Given the description of an element on the screen output the (x, y) to click on. 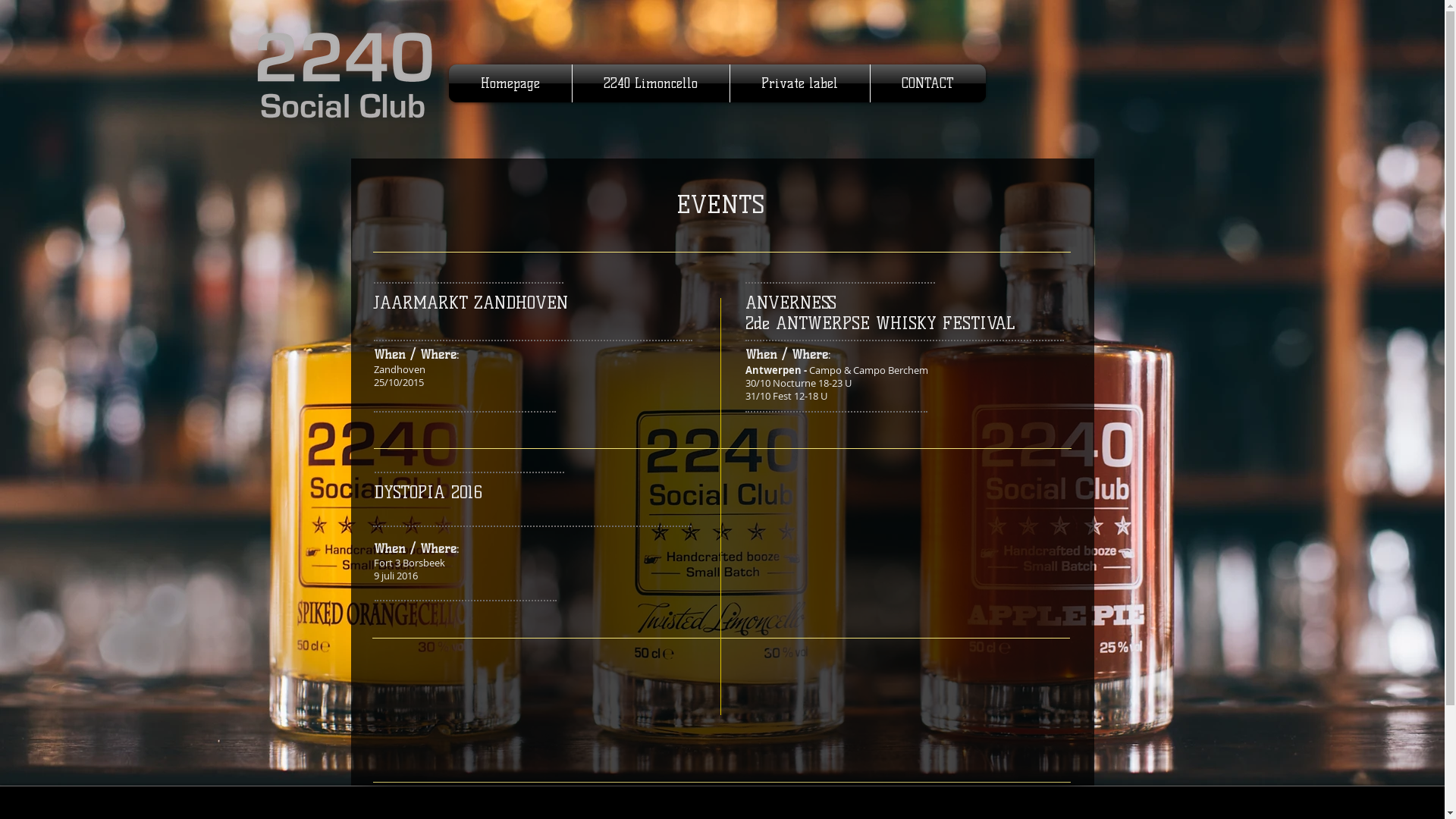
Homepage Element type: text (509, 83)
Private label Element type: text (799, 83)
2240 Limoncello Element type: text (649, 83)
CONTACT Element type: text (927, 83)
